Given the description of an element on the screen output the (x, y) to click on. 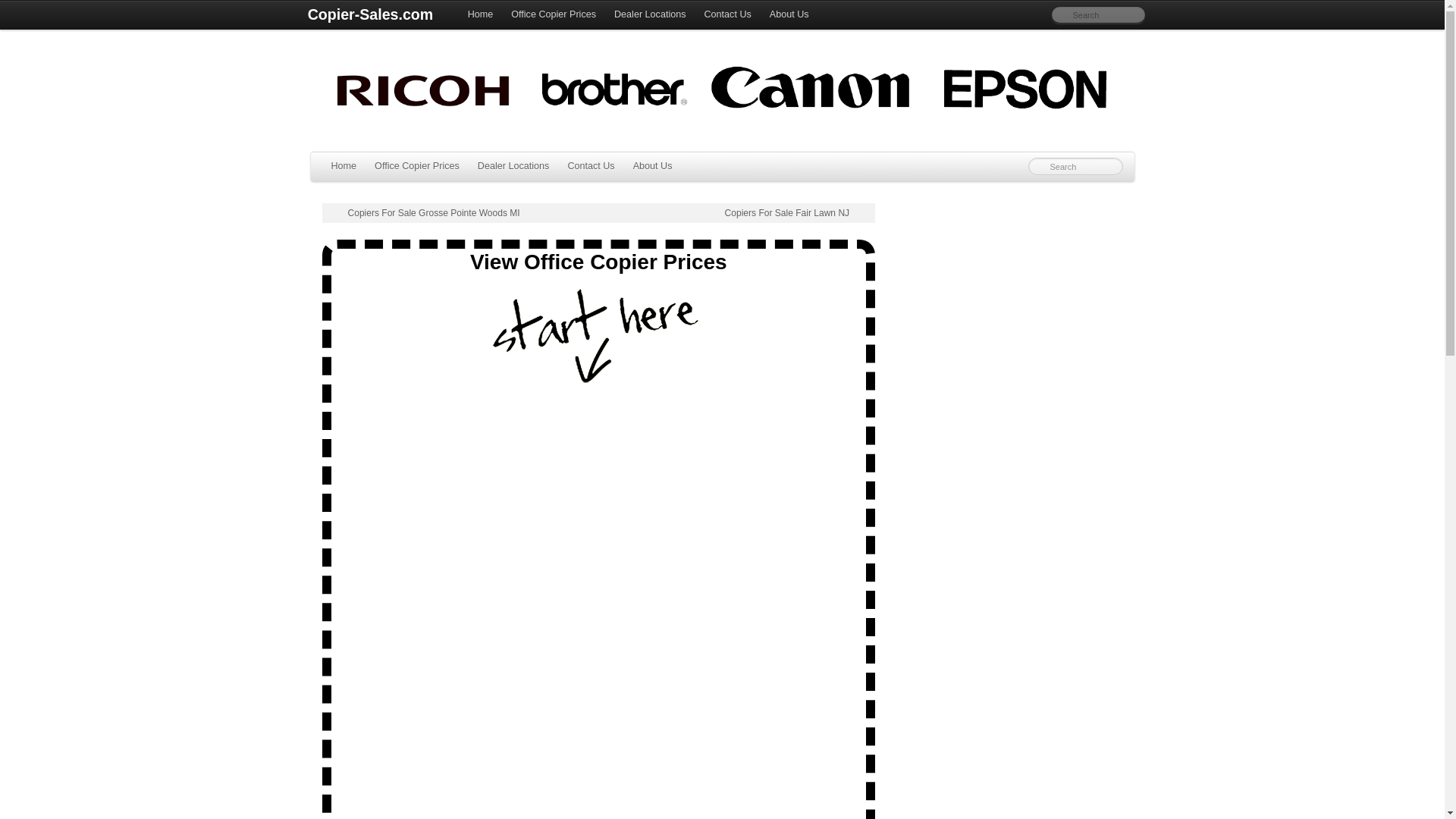
About Us (652, 166)
Office Copier Prices (553, 14)
Office Copier Prices (416, 166)
Contact Us (590, 166)
About Us (789, 14)
Copiers For Sale Fair Lawn NJ (796, 213)
Copier-Sales.com (369, 14)
Copier-Sales.com (369, 14)
Home (343, 166)
